Given the description of an element on the screen output the (x, y) to click on. 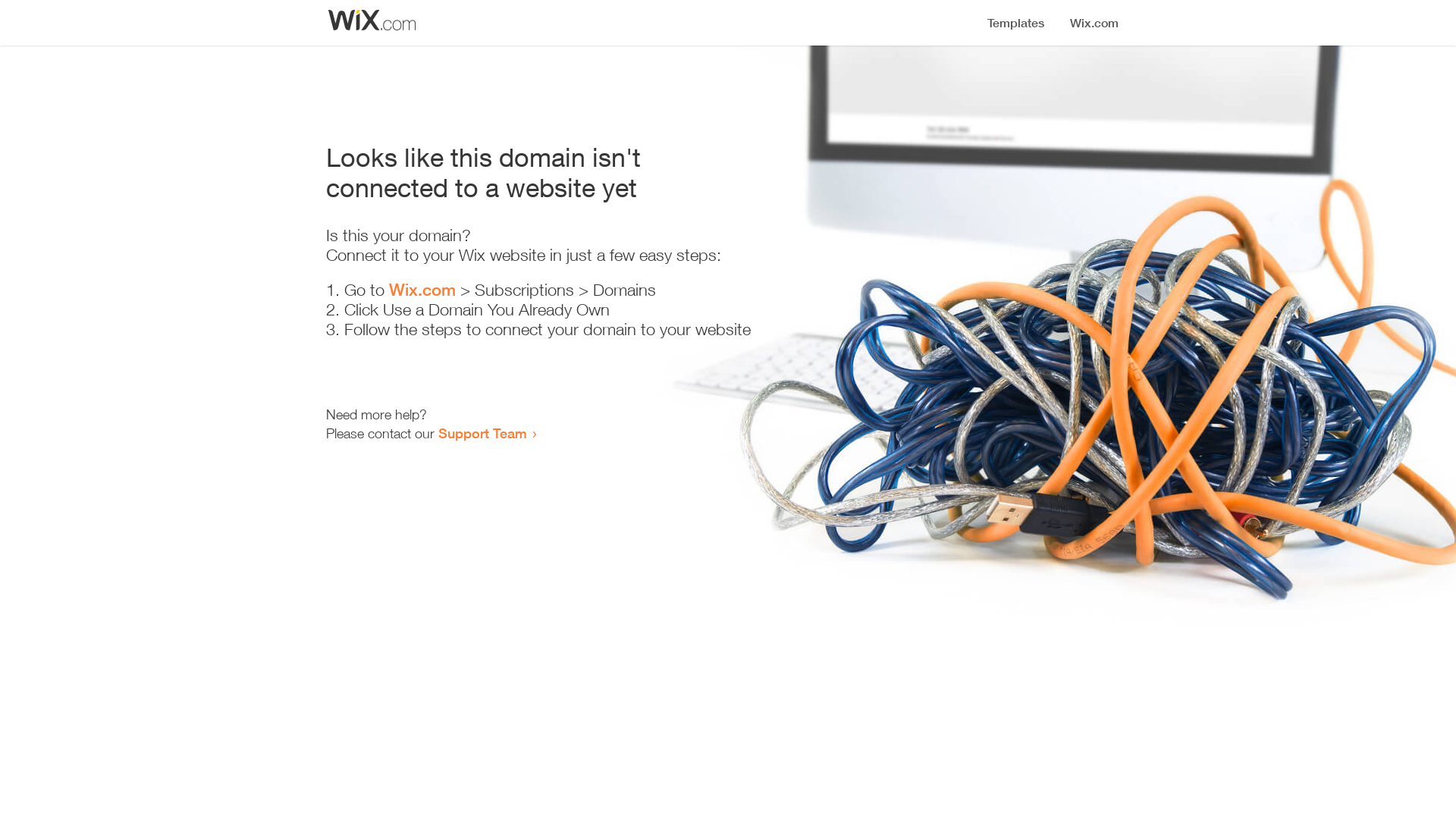
Wix.com Element type: text (422, 289)
Support Team Element type: text (482, 432)
